Given the description of an element on the screen output the (x, y) to click on. 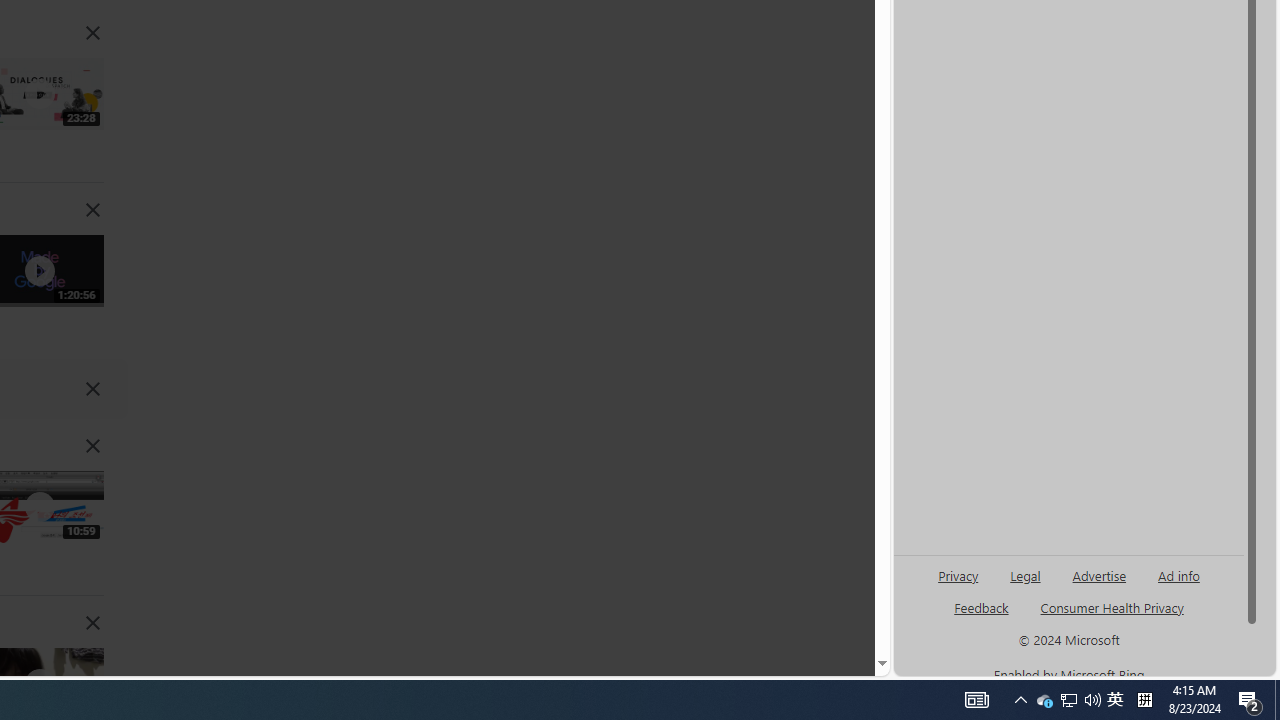
AutomationID: genId96 (981, 615)
AutomationID: sb_feedback (980, 607)
